Given the description of an element on the screen output the (x, y) to click on. 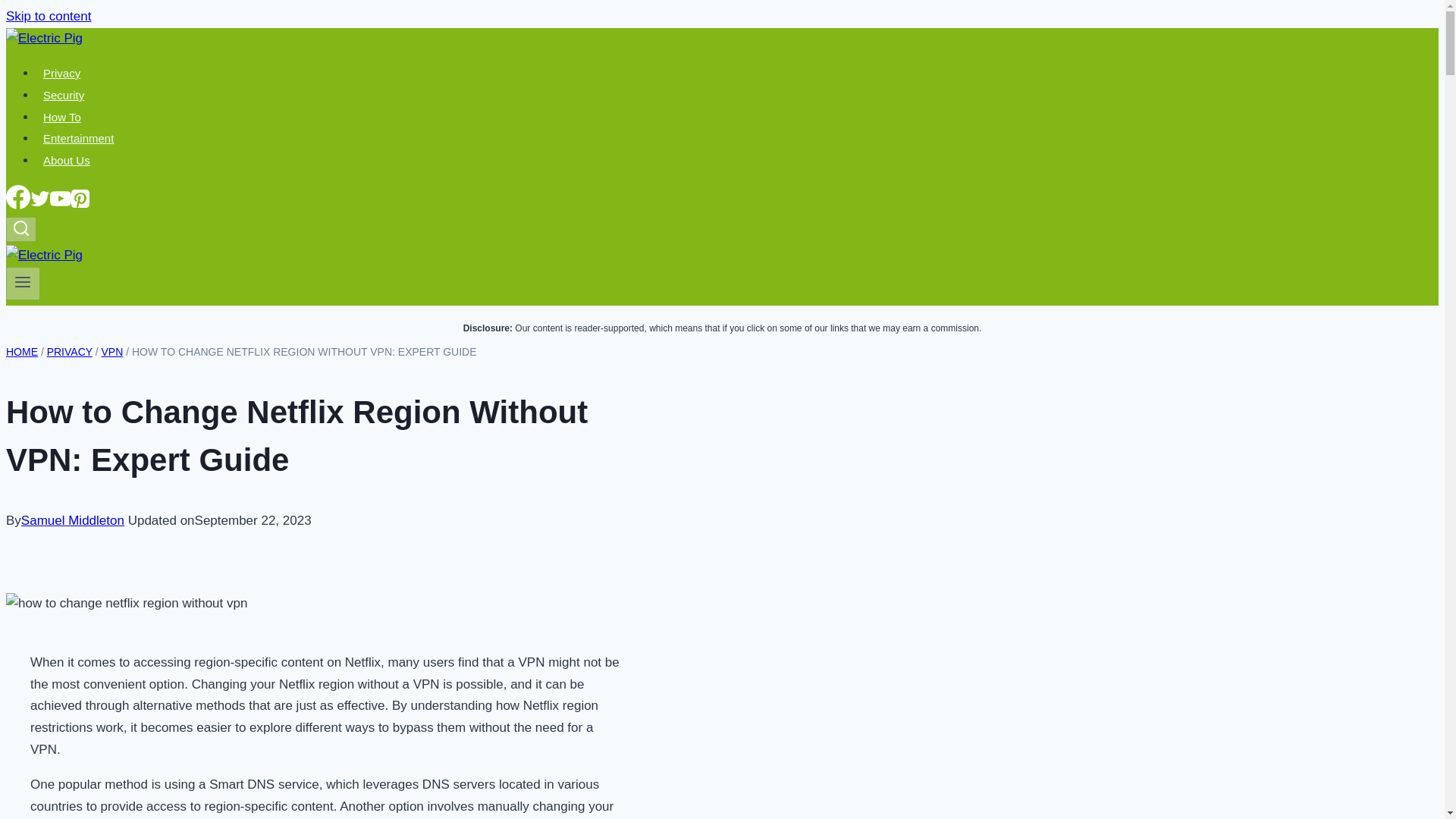
VPN (112, 351)
Security (63, 94)
Toggle Menu (22, 281)
Facebook (17, 197)
About Us (66, 160)
Twitter (39, 198)
Entertainment (78, 138)
YouTube (60, 198)
Samuel Middleton (72, 520)
Skip to content (47, 16)
